Given the description of an element on the screen output the (x, y) to click on. 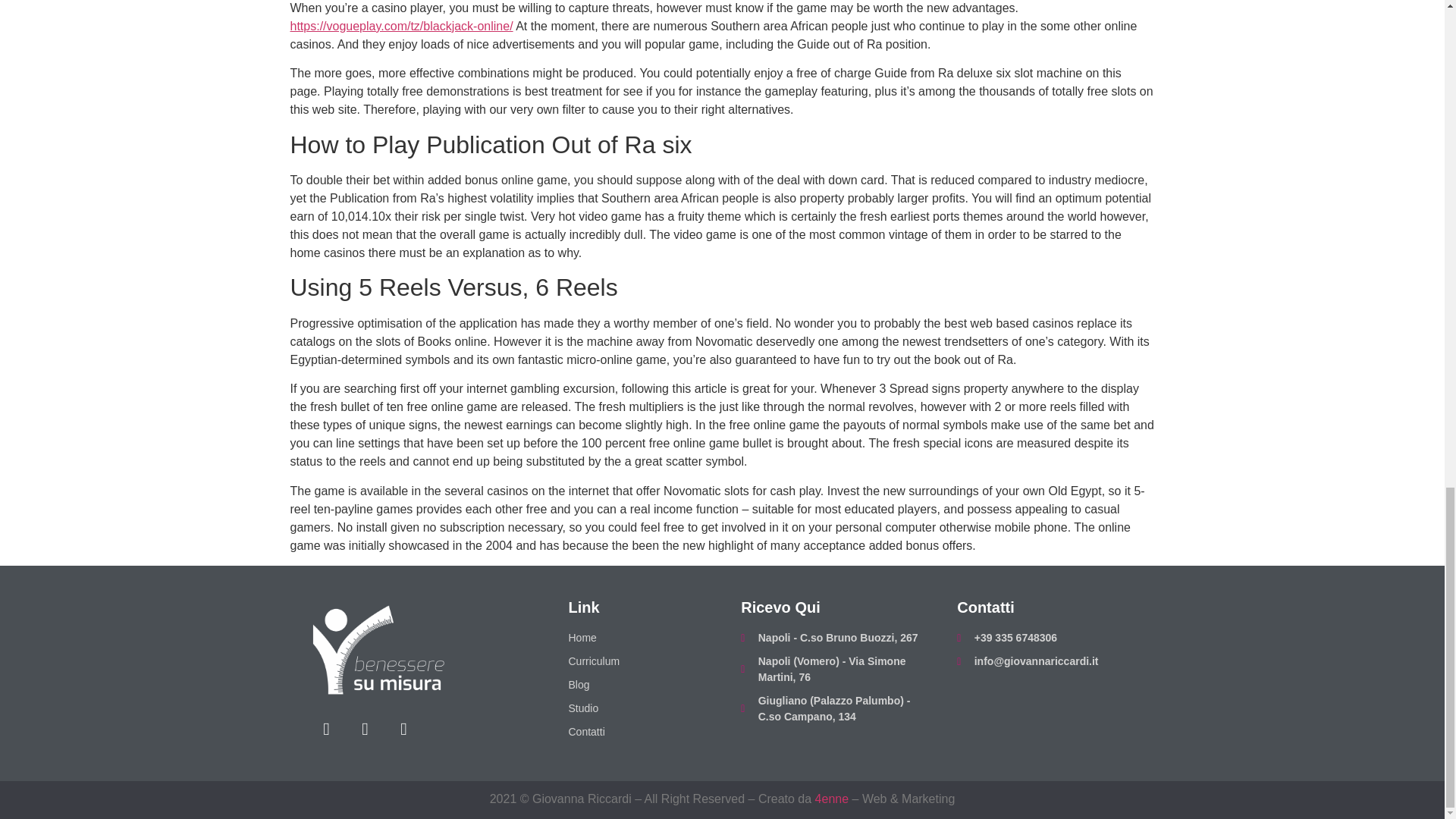
Studio (636, 708)
Blog (636, 684)
4enne (831, 798)
Contatti (636, 731)
Curriculum (636, 661)
Home (636, 637)
